Given the description of an element on the screen output the (x, y) to click on. 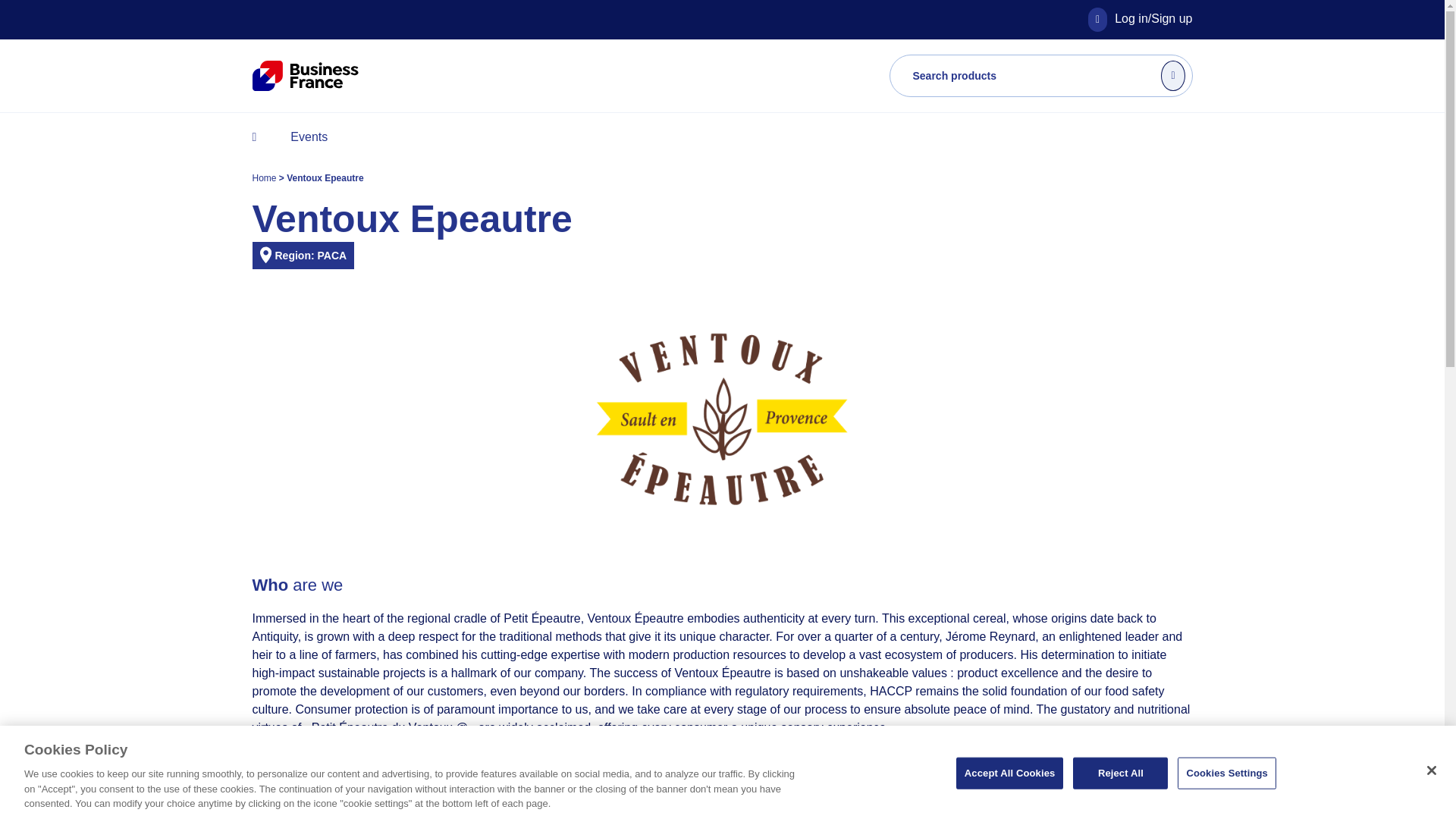
Home (264, 177)
Home (264, 177)
Events (308, 136)
